Given the description of an element on the screen output the (x, y) to click on. 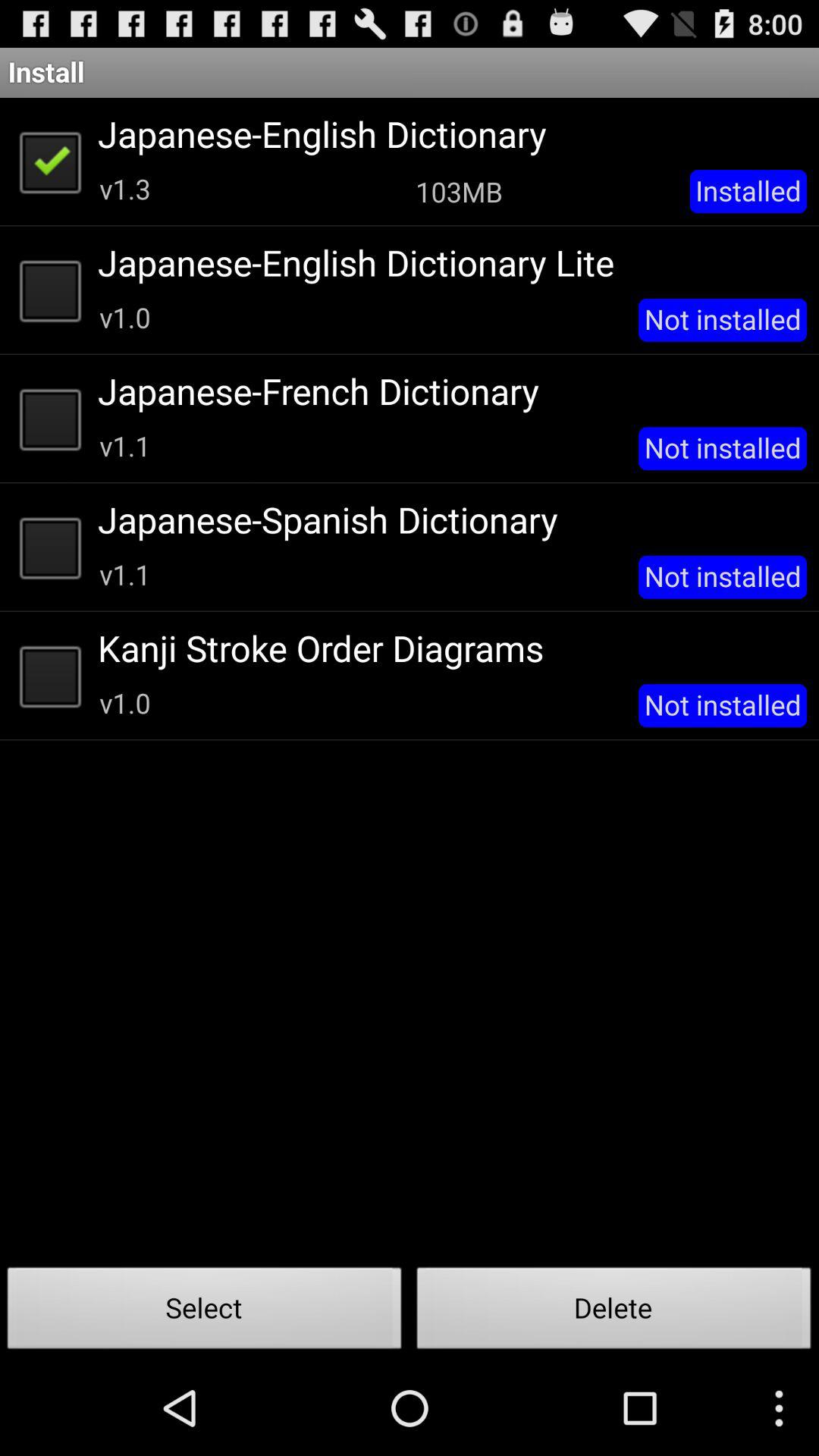
jump to delete (614, 1312)
